Given the description of an element on the screen output the (x, y) to click on. 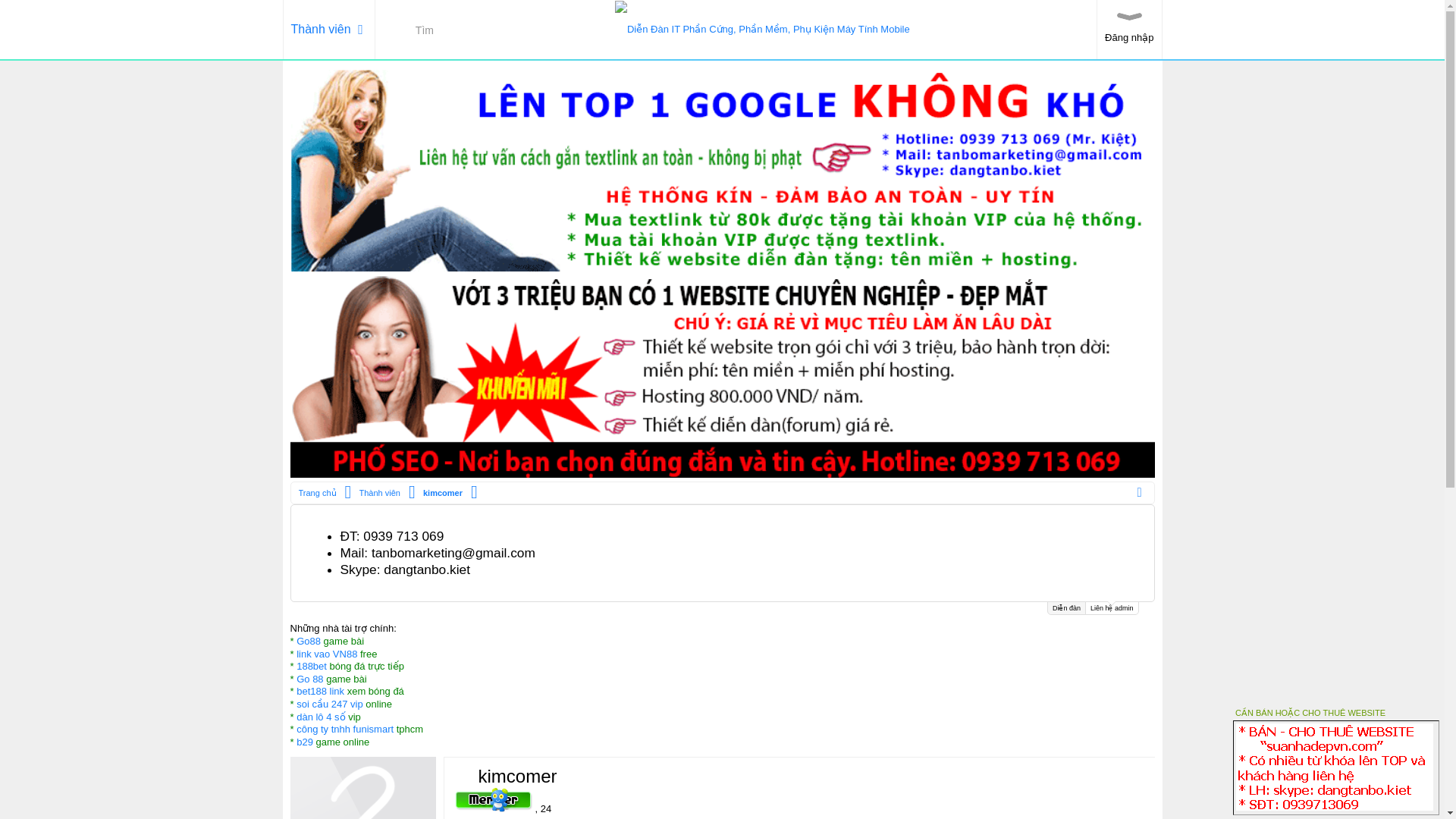
bet188 link (320, 690)
b29 (305, 741)
188bet (311, 665)
Dismiss Notice (1141, 521)
Go88 (308, 641)
Go 88 (310, 678)
bet188 link (320, 690)
b29 (305, 741)
link vao VN88 (326, 654)
188bet (311, 665)
